Given the description of an element on the screen output the (x, y) to click on. 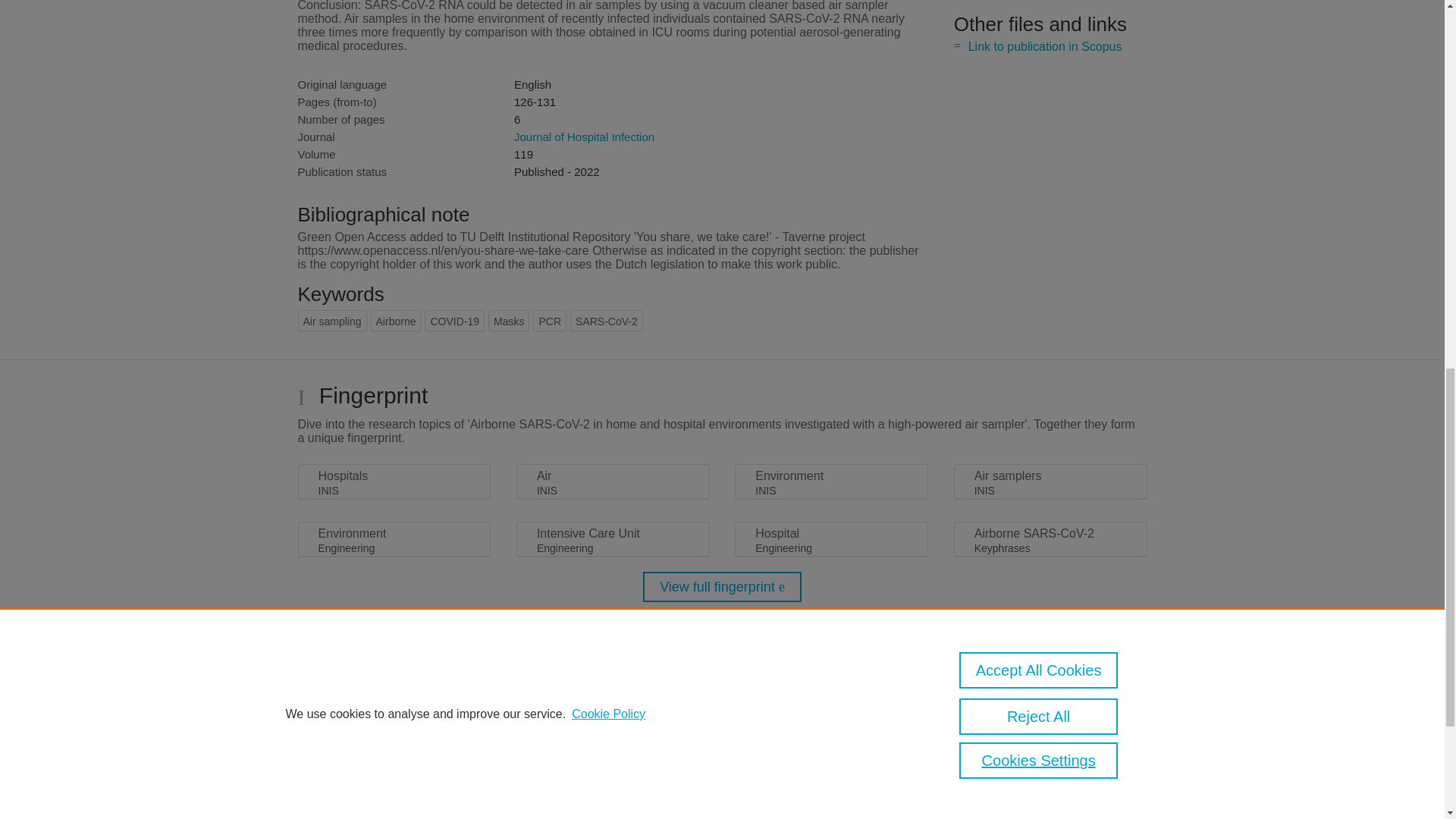
View full fingerprint (722, 586)
Link to publication in Scopus (1045, 46)
Journal of Hospital Infection (583, 136)
